Given the description of an element on the screen output the (x, y) to click on. 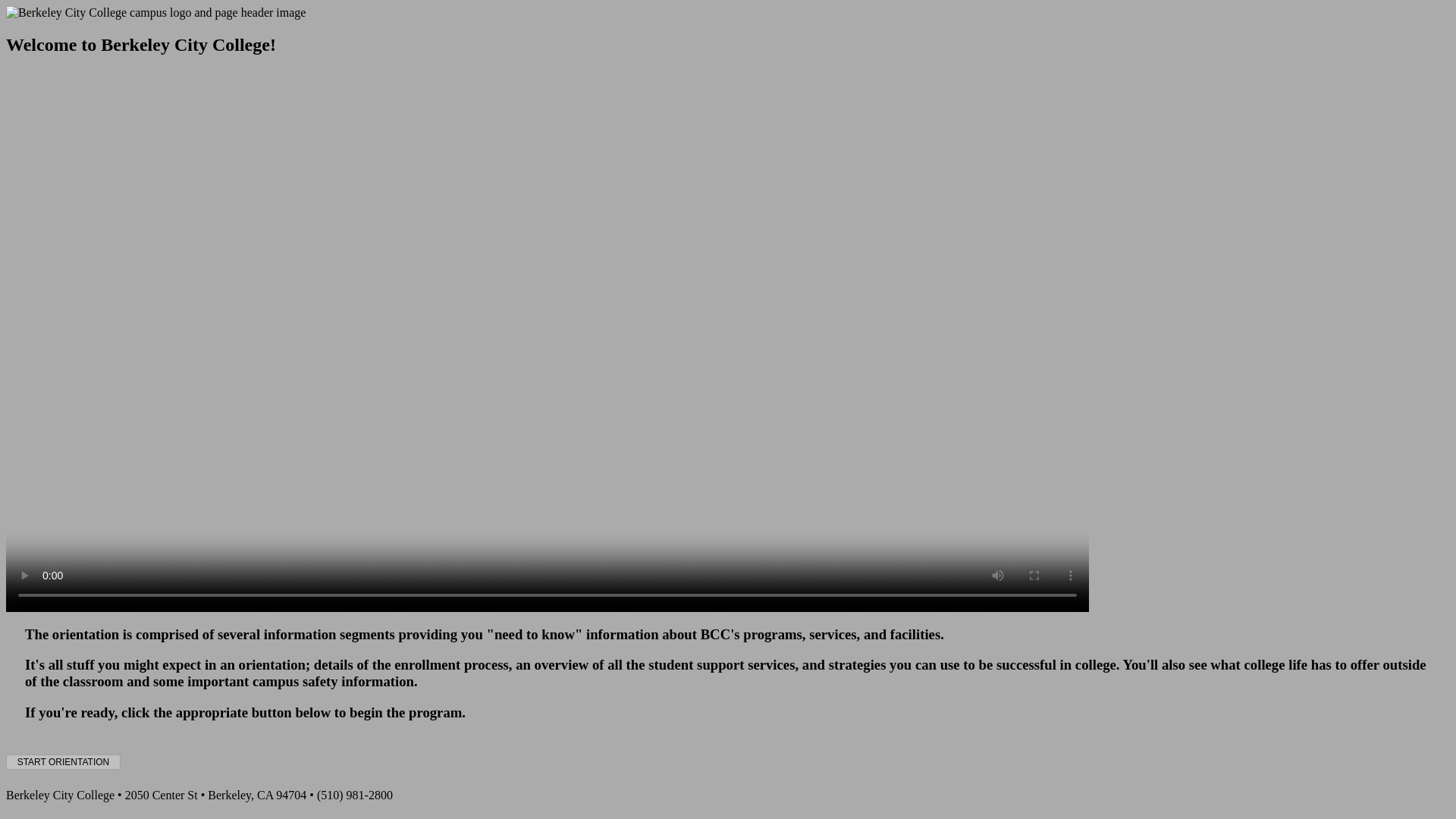
  START ORIENTATION   (62, 761)
  START ORIENTATION   (62, 761)
